Given the description of an element on the screen output the (x, y) to click on. 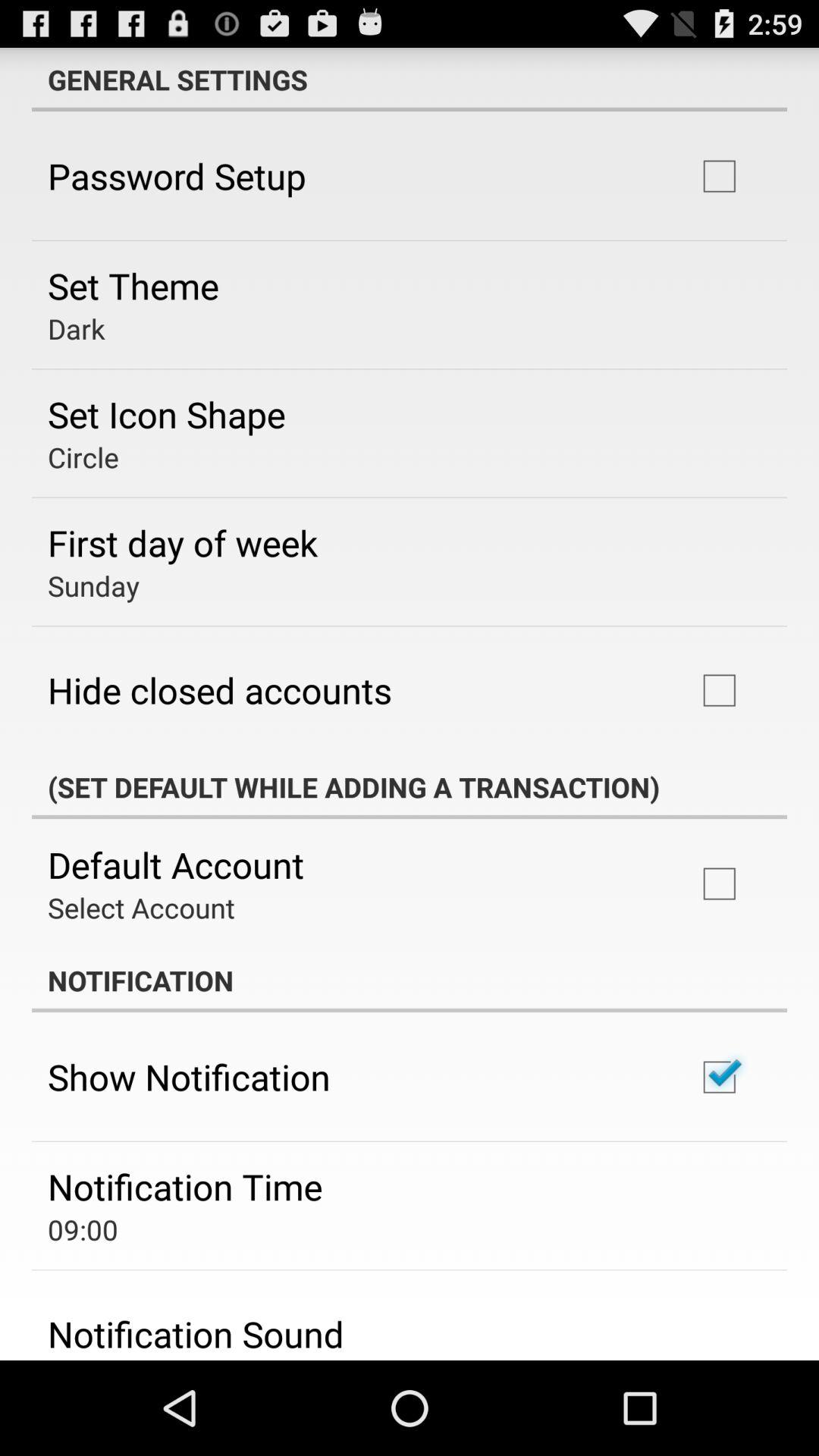
tap the sunday icon (93, 585)
